Given the description of an element on the screen output the (x, y) to click on. 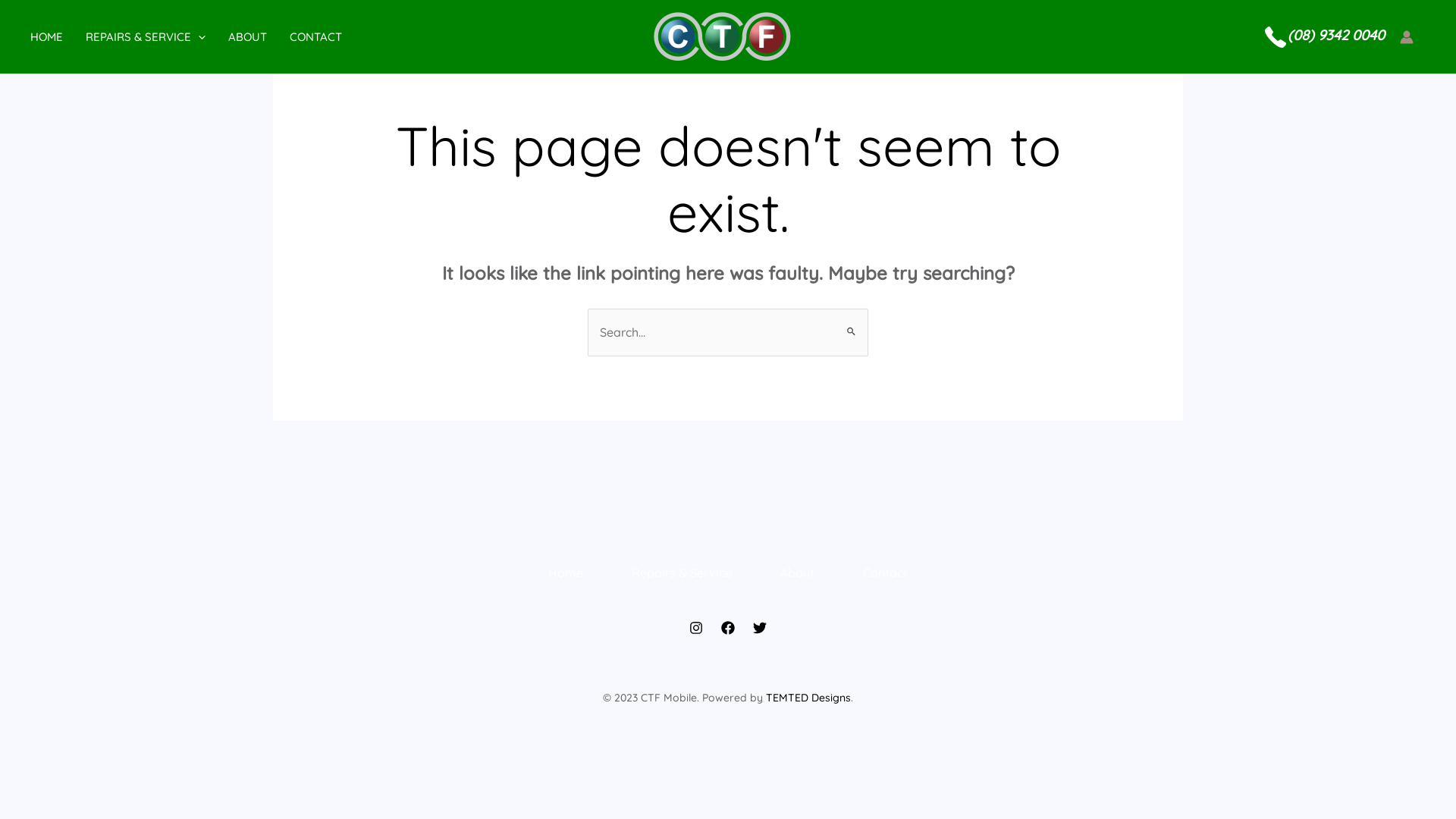
Home Element type: text (565, 572)
ABOUT Element type: text (258, 36)
REPAIRS & SERVICE Element type: text (156, 36)
Contact Element type: text (884, 572)
Search Element type: text (851, 322)
TEMTED Designs Element type: text (807, 697)
HOME Element type: text (57, 36)
(08) 9342 0040 Element type: text (1335, 35)
About Element type: text (797, 572)
Repairs & Service Element type: text (681, 572)
CONTACT Element type: text (326, 36)
